Given the description of an element on the screen output the (x, y) to click on. 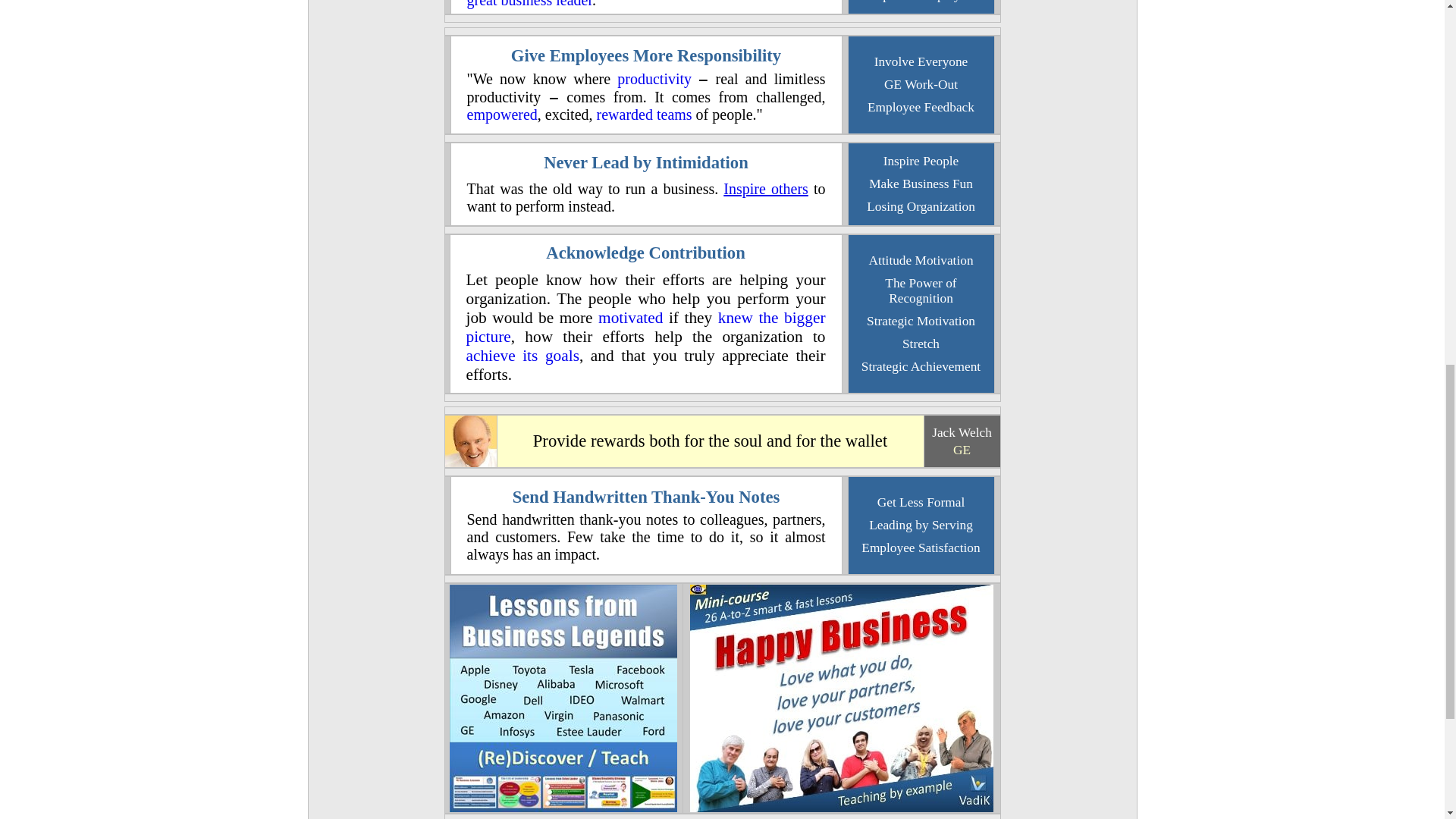
Making GE an extraordinary organization (962, 449)
Happy Business (841, 806)
great business leader (529, 4)
Improving Productivity (654, 78)
Lessons from Business Legends (563, 808)
GE Work-Out (920, 83)
Losing Organization (920, 206)
Inspire others (765, 188)
Jack Welch success story and quotes (470, 463)
Employee Empowerment (502, 114)
